Given the description of an element on the screen output the (x, y) to click on. 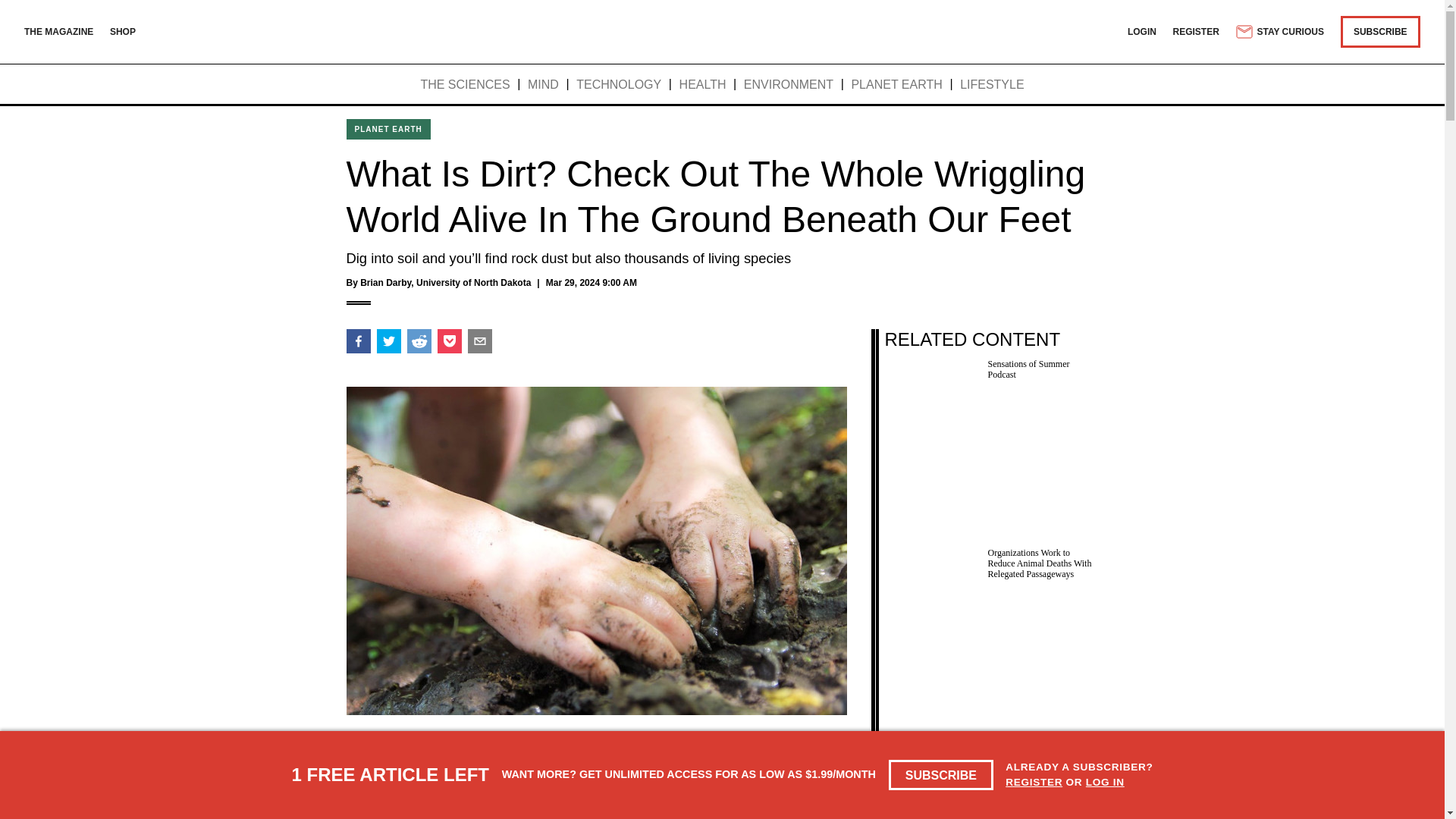
PLANET EARTH (387, 128)
REGISTER (1196, 31)
Brian Darby, University of North Dakota (445, 282)
MIND (543, 84)
PLANET EARTH (896, 84)
THE MAGAZINE (58, 31)
SIGN UP (811, 796)
THE SCIENCES (464, 84)
ENVIRONMENT (788, 84)
SHOP (122, 31)
TECHNOLOGY (618, 84)
LIFESTYLE (991, 84)
HEALTH (702, 84)
LOGIN (1141, 31)
SUBSCRIBE (1380, 31)
